Given the description of an element on the screen output the (x, y) to click on. 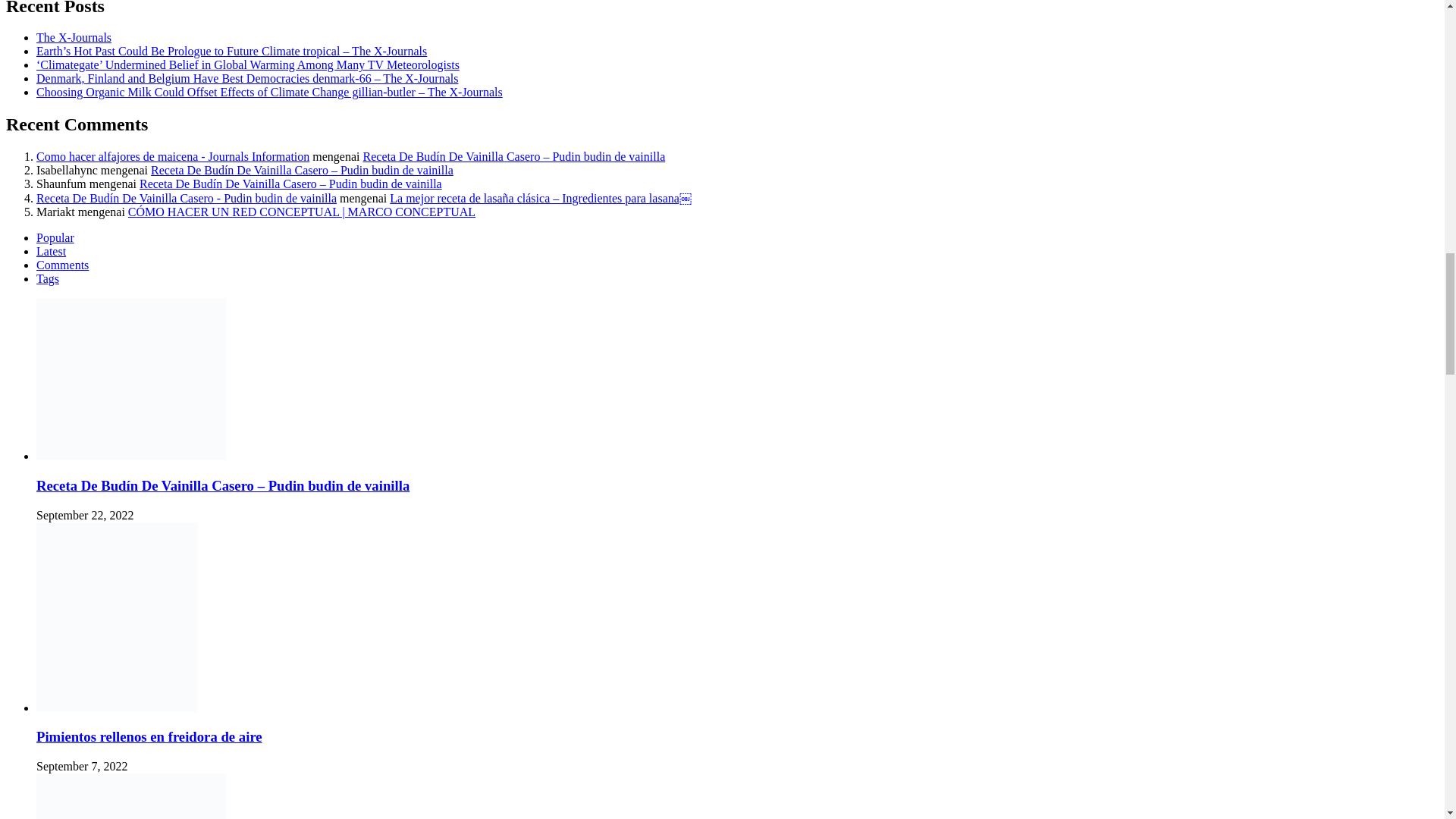
Comments (62, 264)
The X-Journals (74, 37)
Popular (55, 237)
Como hacer alfajores de maicena - Journals Information (172, 155)
Latest (50, 250)
Tags (47, 278)
